Given the description of an element on the screen output the (x, y) to click on. 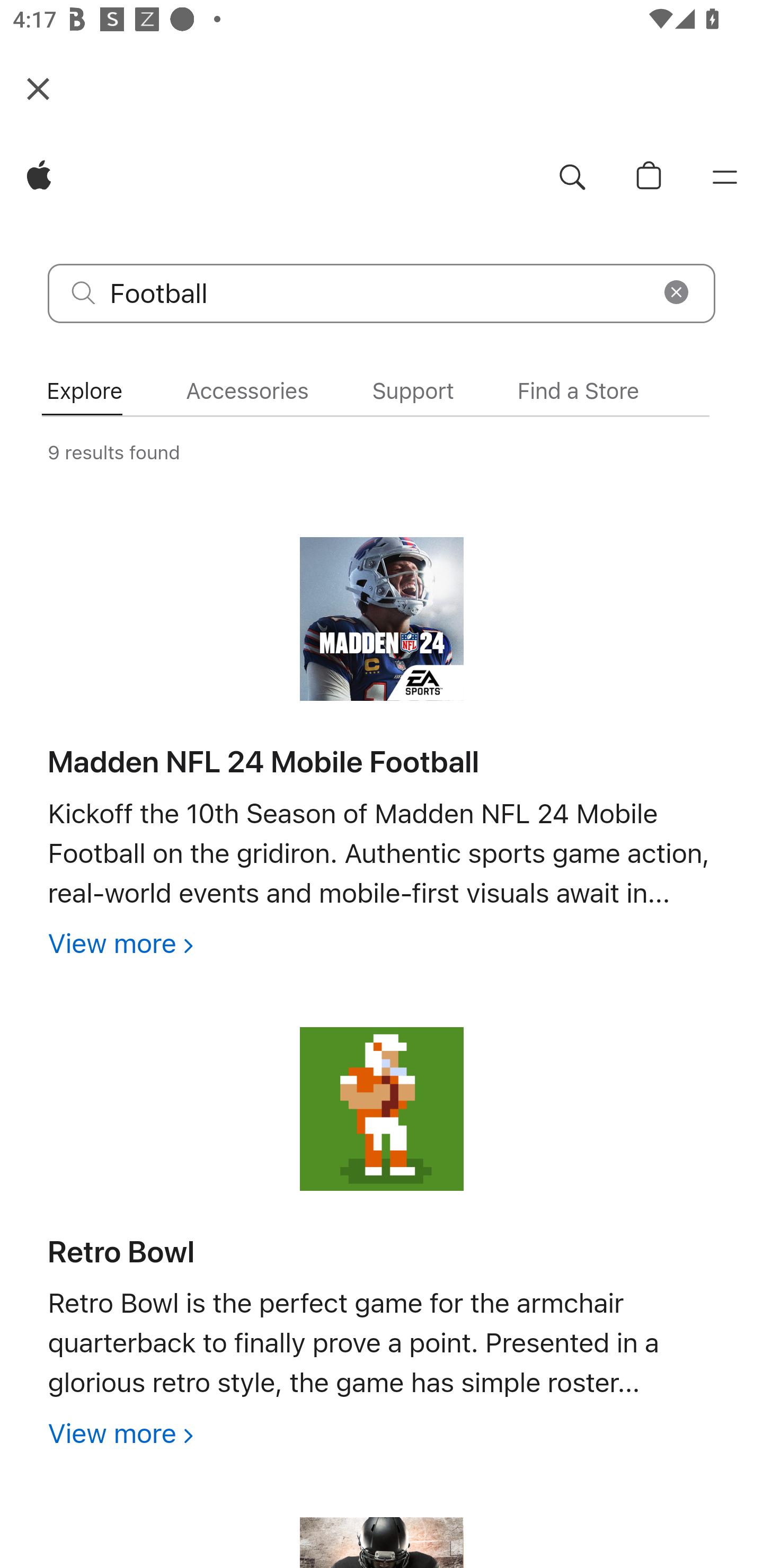
Close (38, 88)
Apple (38, 177)
Search apple.com (572, 177)
Shopping Bag (648, 177)
Menu (724, 177)
Football (381, 293)
Submit (83, 292)
Reset (676, 292)
Explore (83, 390)
Accessories (246, 390)
Support (413, 390)
Find a Store (577, 390)
View more View more  (120, 942)
Retro Bowl Retro Bowl Retro Bowl (121, 1251)
View more View more  (120, 1432)
